Given the description of an element on the screen output the (x, y) to click on. 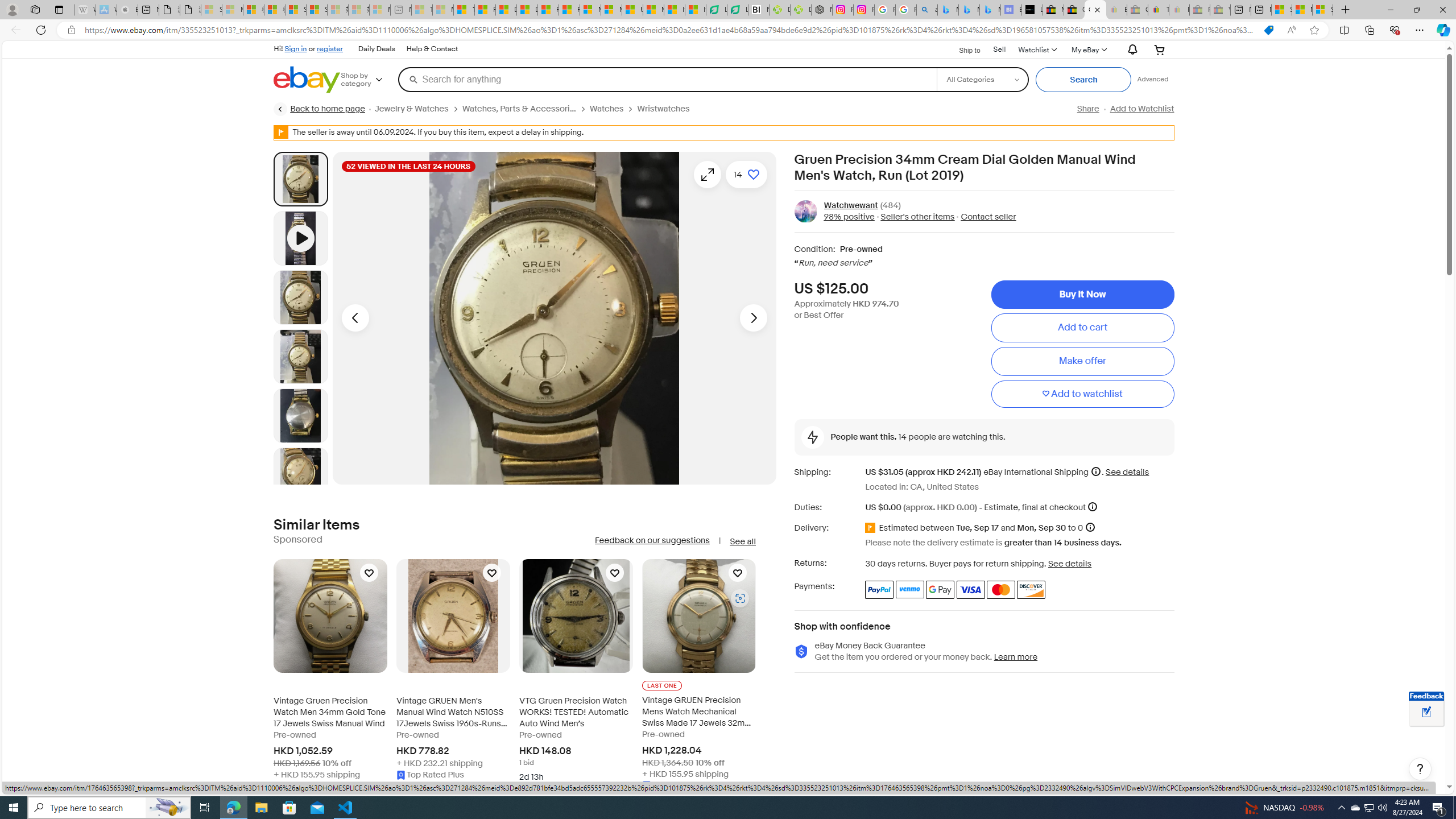
Next image - Item images thumbnails (753, 318)
Select a category for search (981, 78)
(484) (890, 205)
98% positive (849, 216)
New tab - Sleeping (400, 9)
Microsoft Bing Travel - Shangri-La Hotel Bangkok (990, 9)
Discover (1030, 588)
Press Room - eBay Inc. - Sleeping (1199, 9)
Picture 4 of 13 (300, 415)
Daily Deals (376, 49)
Nordace - Nordace Edin Collection (821, 9)
